Given the description of an element on the screen output the (x, y) to click on. 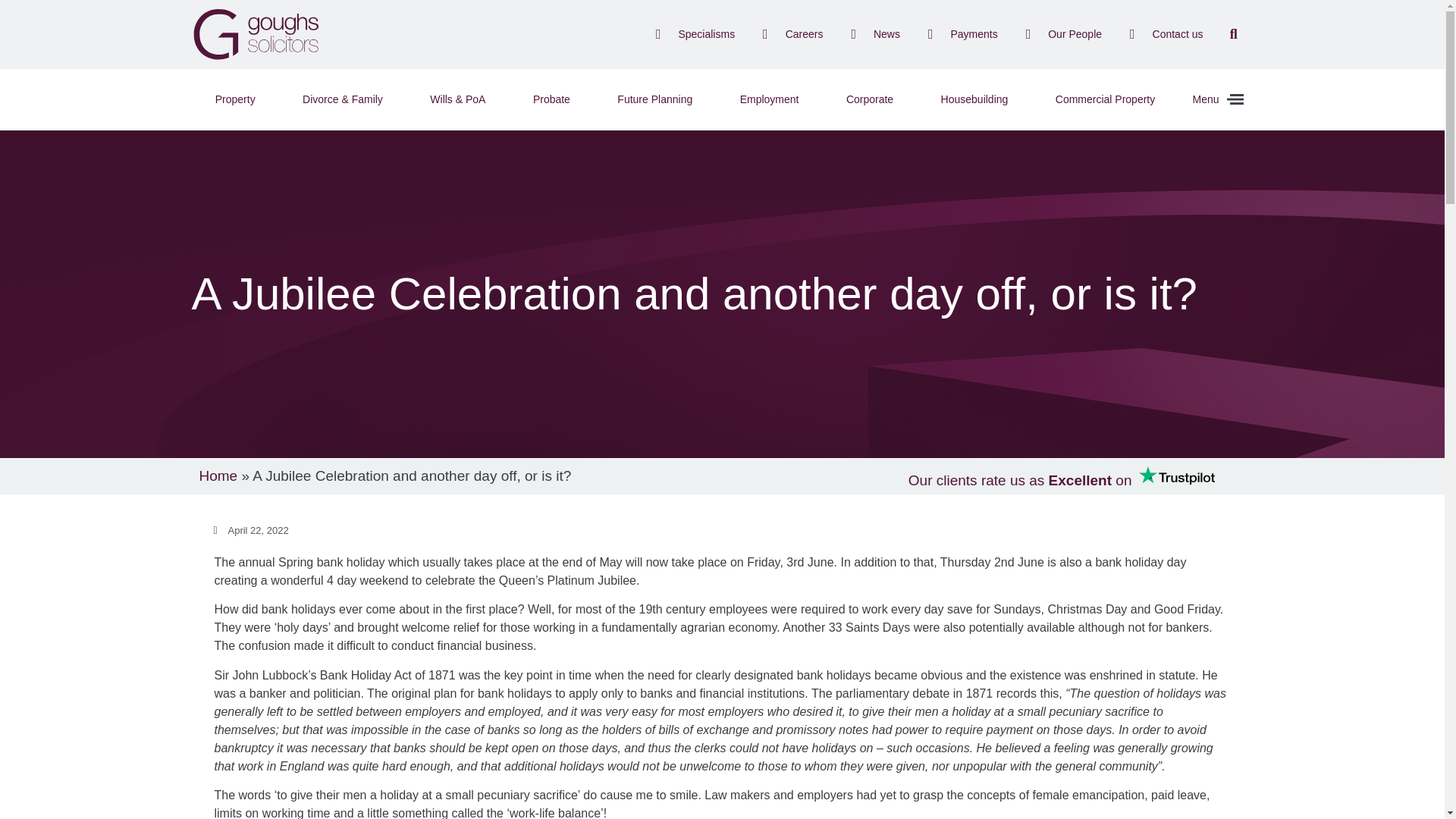
Our People (1061, 33)
Payments (959, 33)
Specialisms (692, 33)
News (871, 33)
Contact us (1163, 33)
Careers (789, 33)
Property (234, 99)
